Given the description of an element on the screen output the (x, y) to click on. 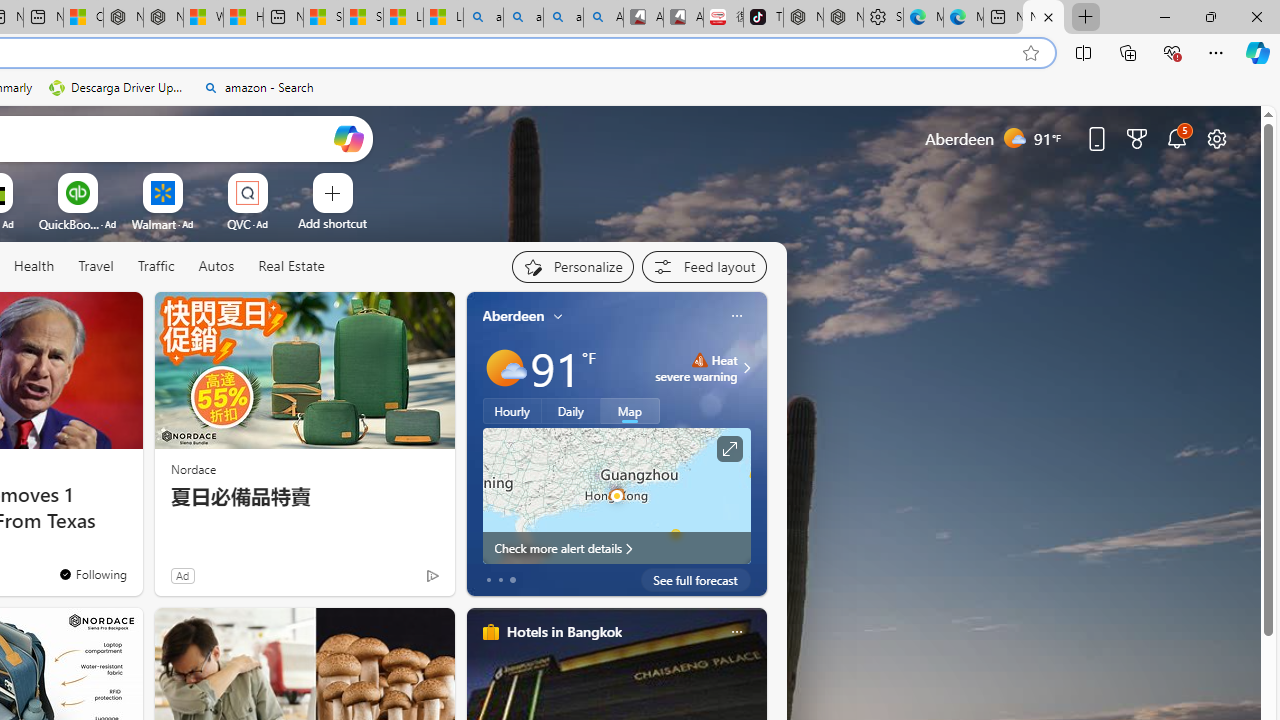
Real Estate (291, 265)
Nordace - Best Sellers (803, 17)
Feed settings (703, 266)
Autos (215, 265)
Traffic (155, 265)
My location (558, 315)
Nordace Siena Pro 15 Backpack (843, 17)
